Given the description of an element on the screen output the (x, y) to click on. 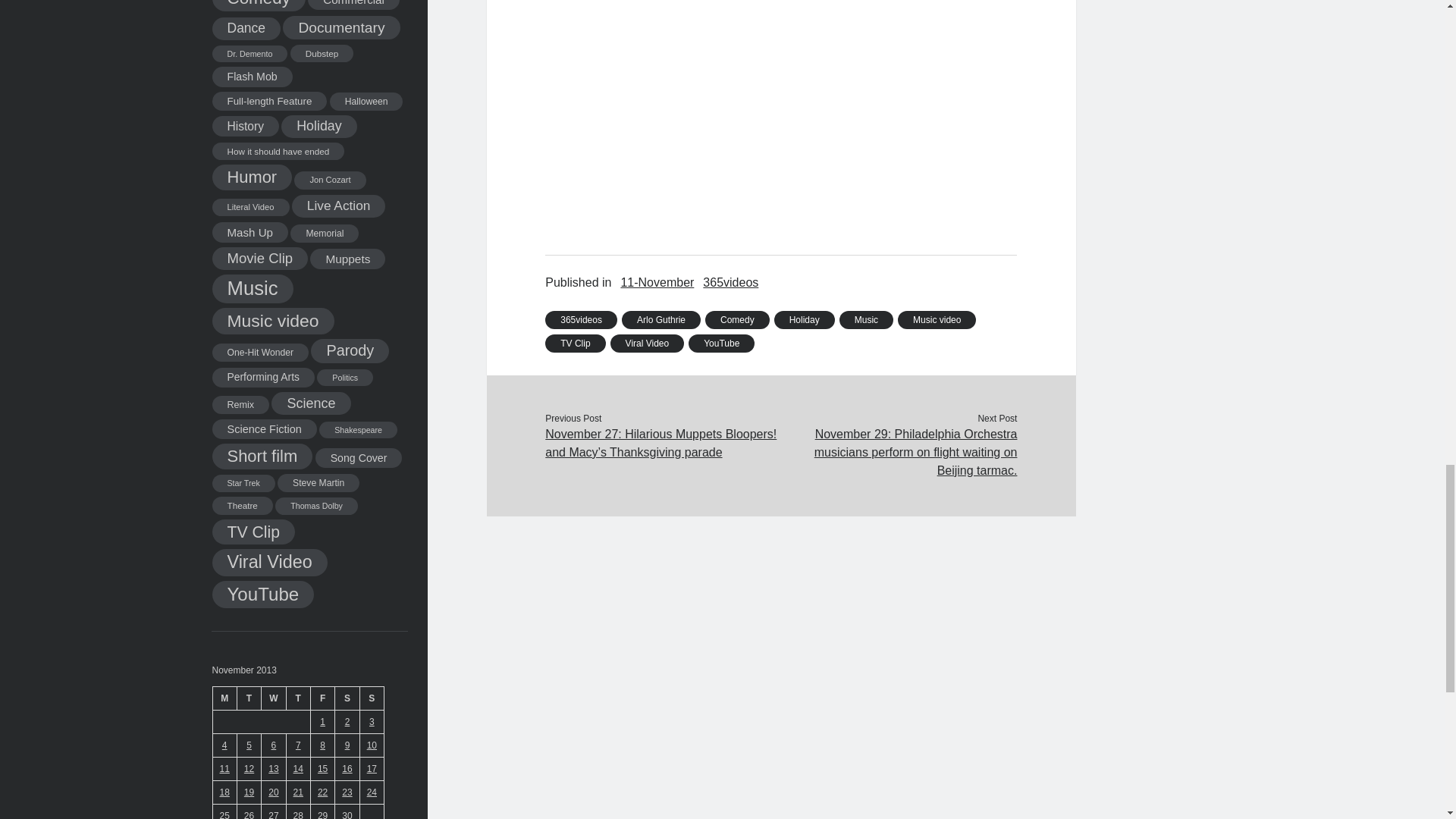
View all posts in 11-November (657, 282)
Tuesday (247, 698)
Saturday (346, 698)
View all posts tagged Arlo Guthrie (660, 320)
Sunday (371, 698)
View all posts tagged Comedy (737, 320)
View all posts in 365videos (730, 282)
Monday (223, 698)
Wednesday (273, 698)
Friday (322, 698)
